Given the description of an element on the screen output the (x, y) to click on. 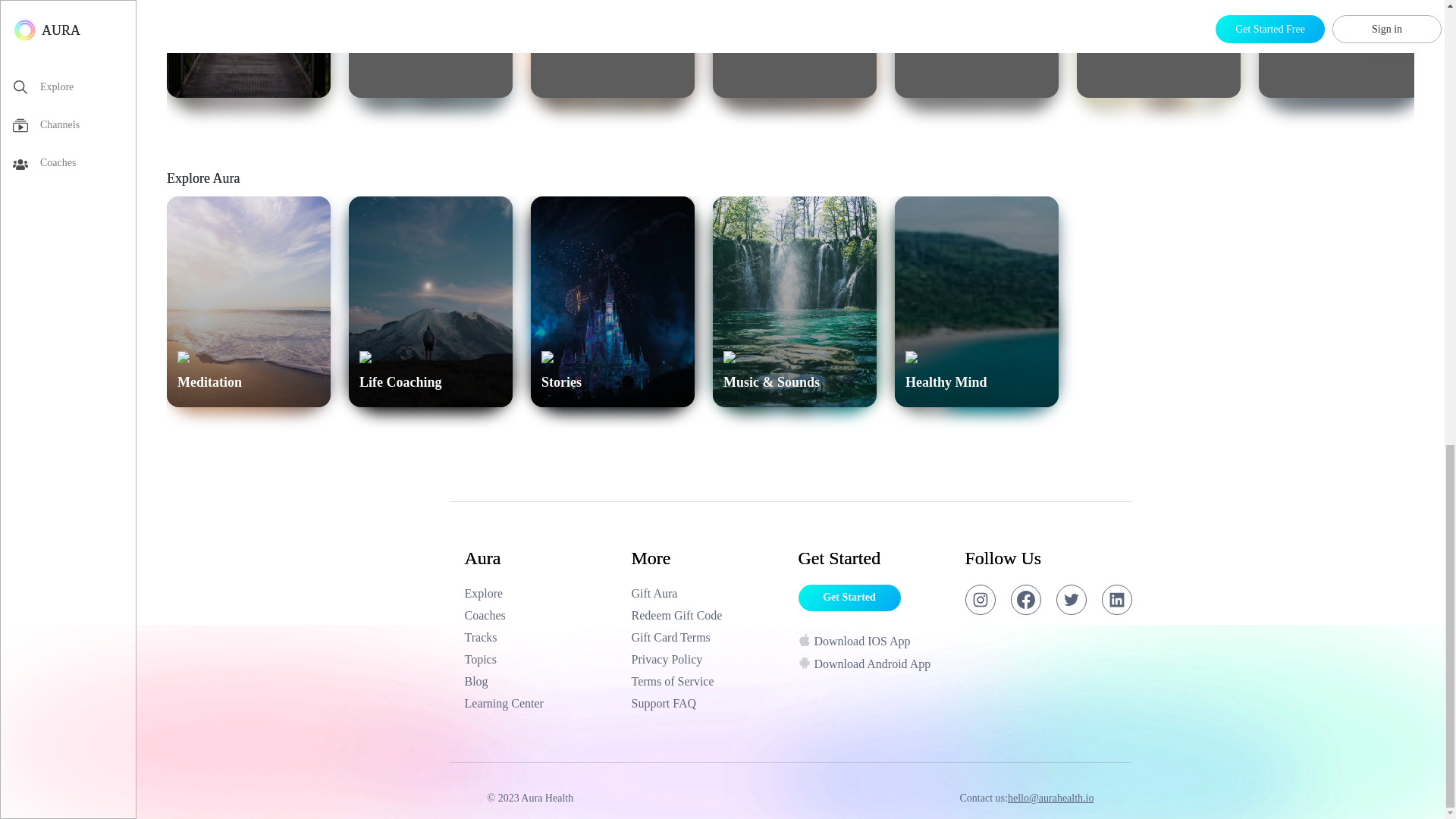
Coaches (539, 615)
Download IOS App (794, 48)
Explore (612, 48)
Topics (248, 48)
Redeem Gift Code (873, 642)
